Given the description of an element on the screen output the (x, y) to click on. 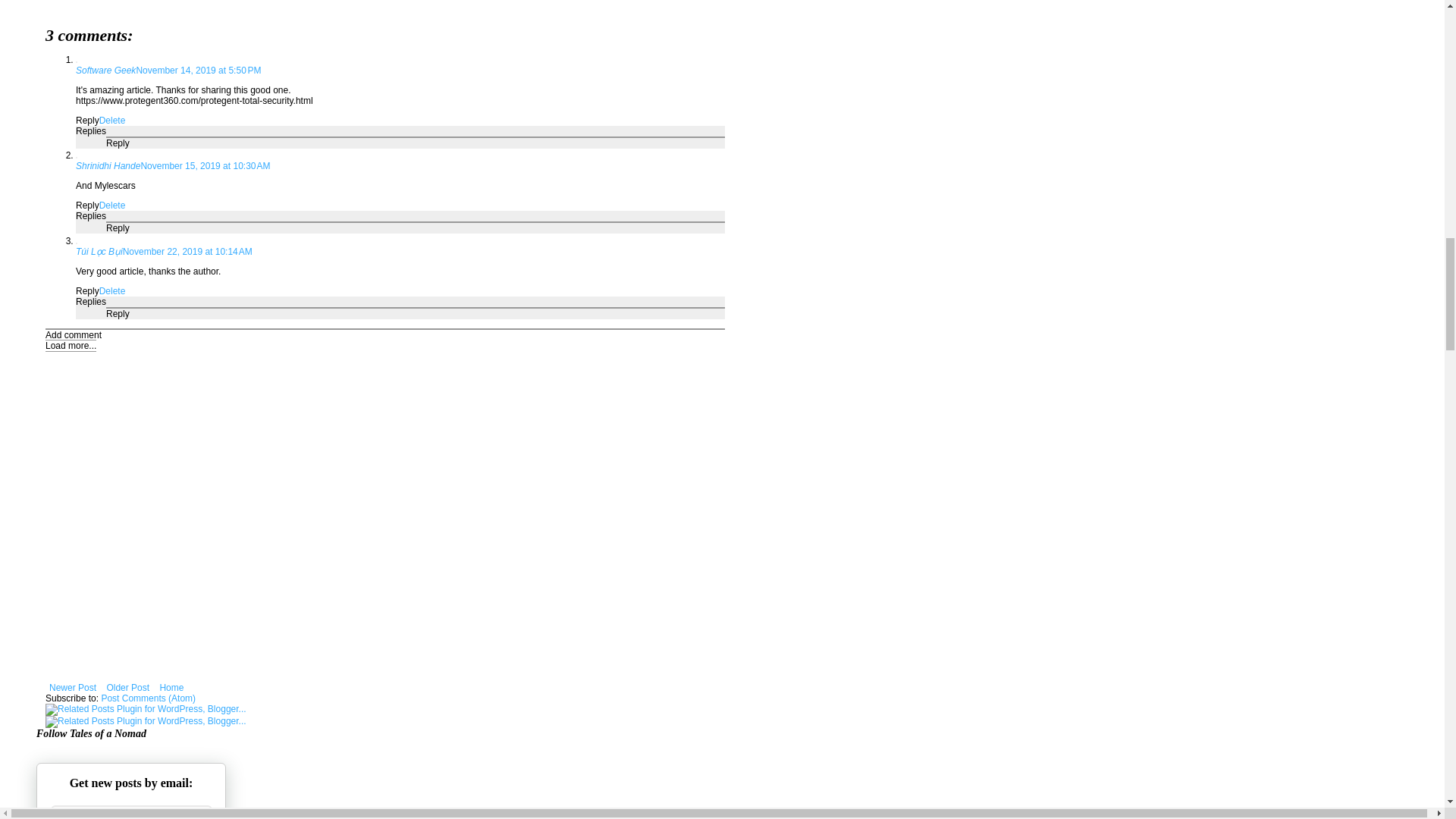
Older Post (126, 687)
Newer Post (72, 687)
